Given the description of an element on the screen output the (x, y) to click on. 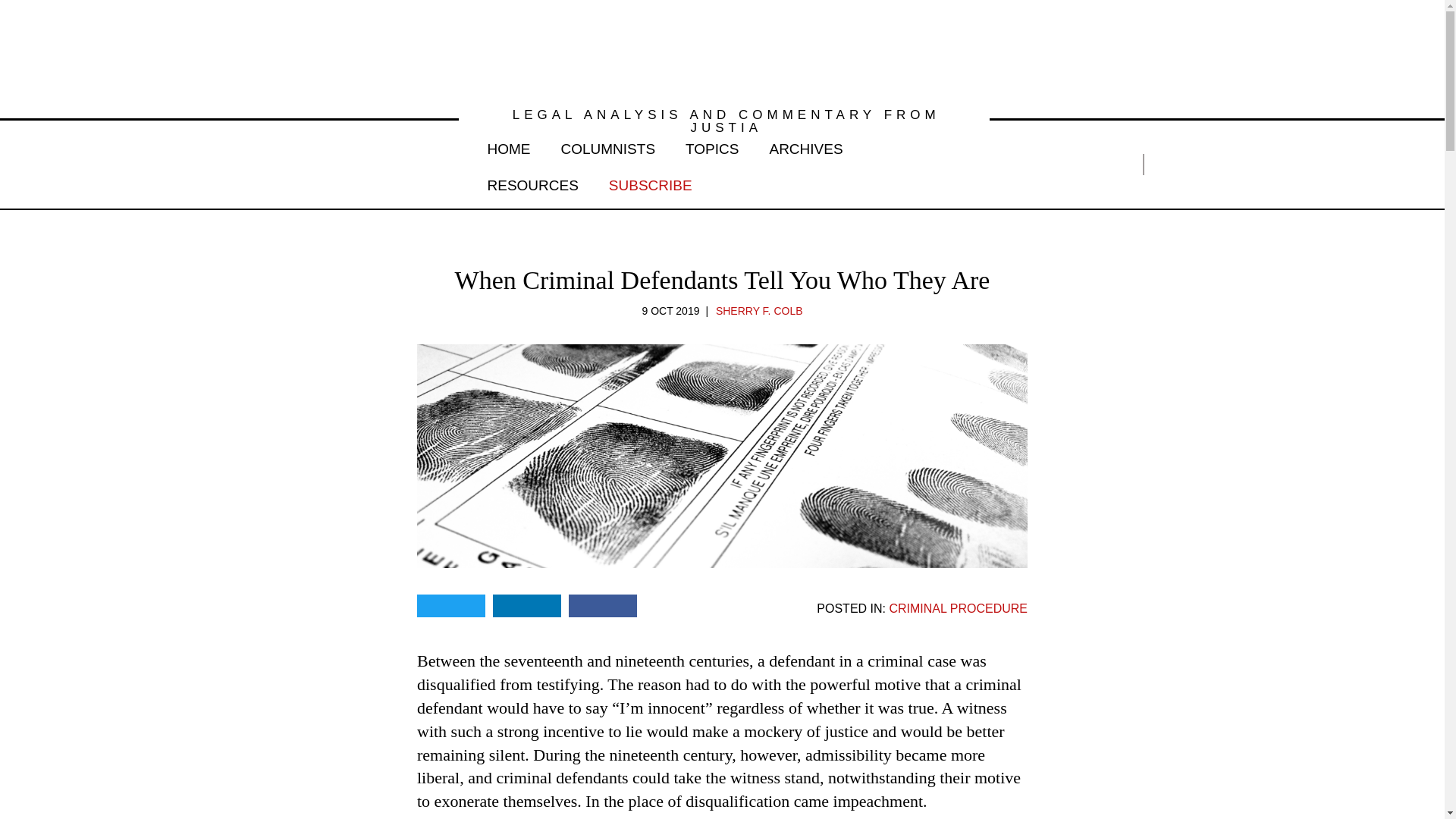
SHERRY F. COLB (759, 310)
ARCHIVES (805, 145)
Verdict Homepage (721, 50)
Verdict (721, 50)
View all posts in Criminal Procedure (957, 608)
TOPICS (711, 145)
COLUMNISTS (608, 145)
Justia (323, 163)
CRIMINAL PROCEDURE (957, 608)
RESOURCES (531, 182)
HOME (507, 145)
SUBSCRIBE (650, 182)
Justia (323, 163)
LEGAL ANALYSIS AND COMMENTARY FROM JUSTIA (724, 121)
